Given the description of an element on the screen output the (x, y) to click on. 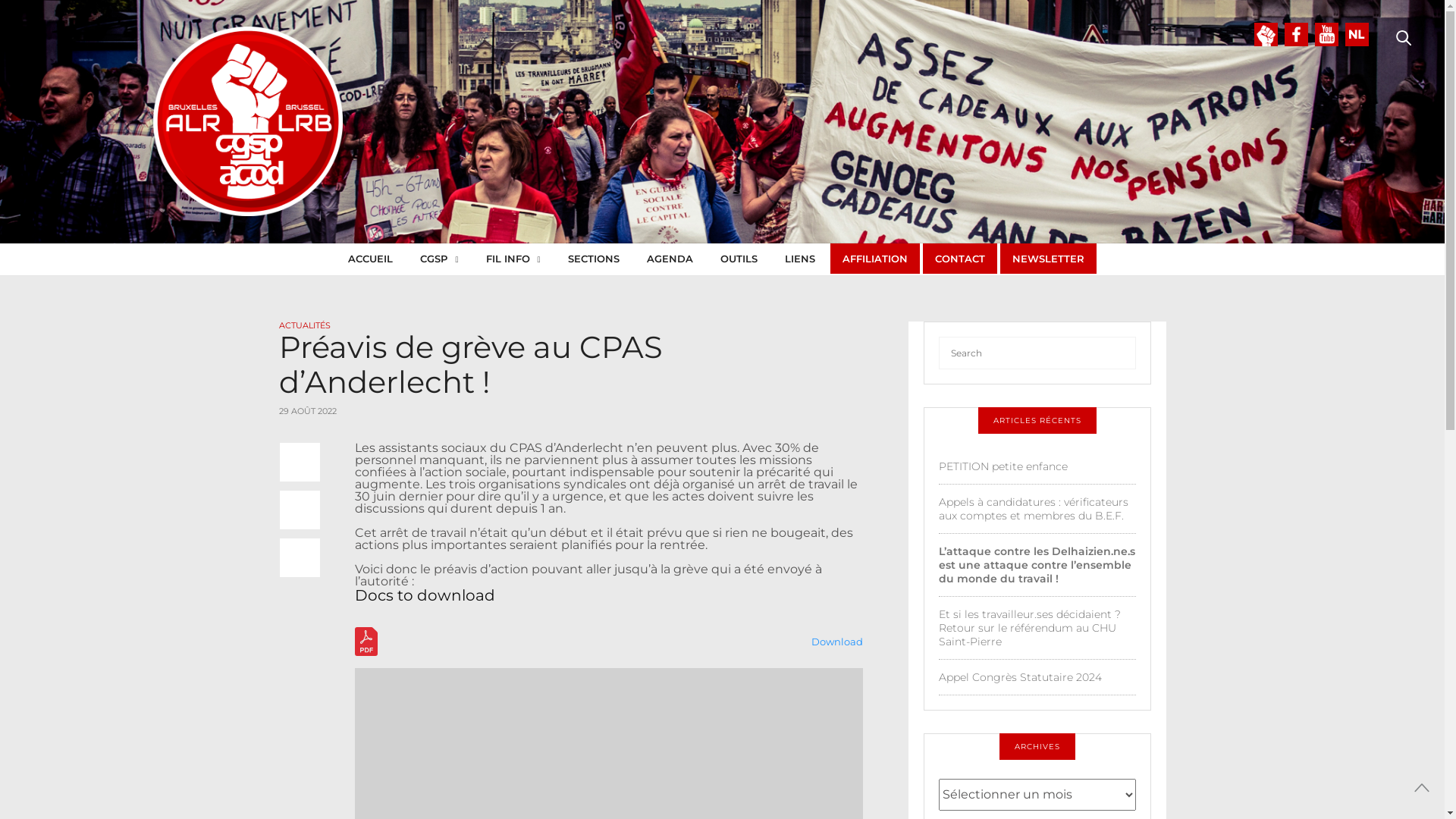
ACCUEIL Element type: text (370, 258)
CGSP Element type: text (439, 259)
SECTIONS Element type: text (593, 258)
CONTACT Element type: text (960, 258)
LIENS Element type: text (799, 258)
AFFILIATION Element type: text (874, 258)
NL Element type: hover (1357, 34)
Facebook Element type: hover (1296, 34)
OUTILS Element type: text (738, 258)
Youtube Element type: hover (1326, 34)
Espace Militant Element type: hover (1266, 34)
FIL INFO Element type: text (512, 259)
PETITION petite enfance Element type: text (1002, 466)
CGSP ALR Element type: hover (519, 119)
AGENDA Element type: text (669, 258)
CGSP ALR Element type: hover (247, 121)
Download Element type: text (836, 641)
NEWSLETTER Element type: text (1048, 258)
